Given the description of an element on the screen output the (x, y) to click on. 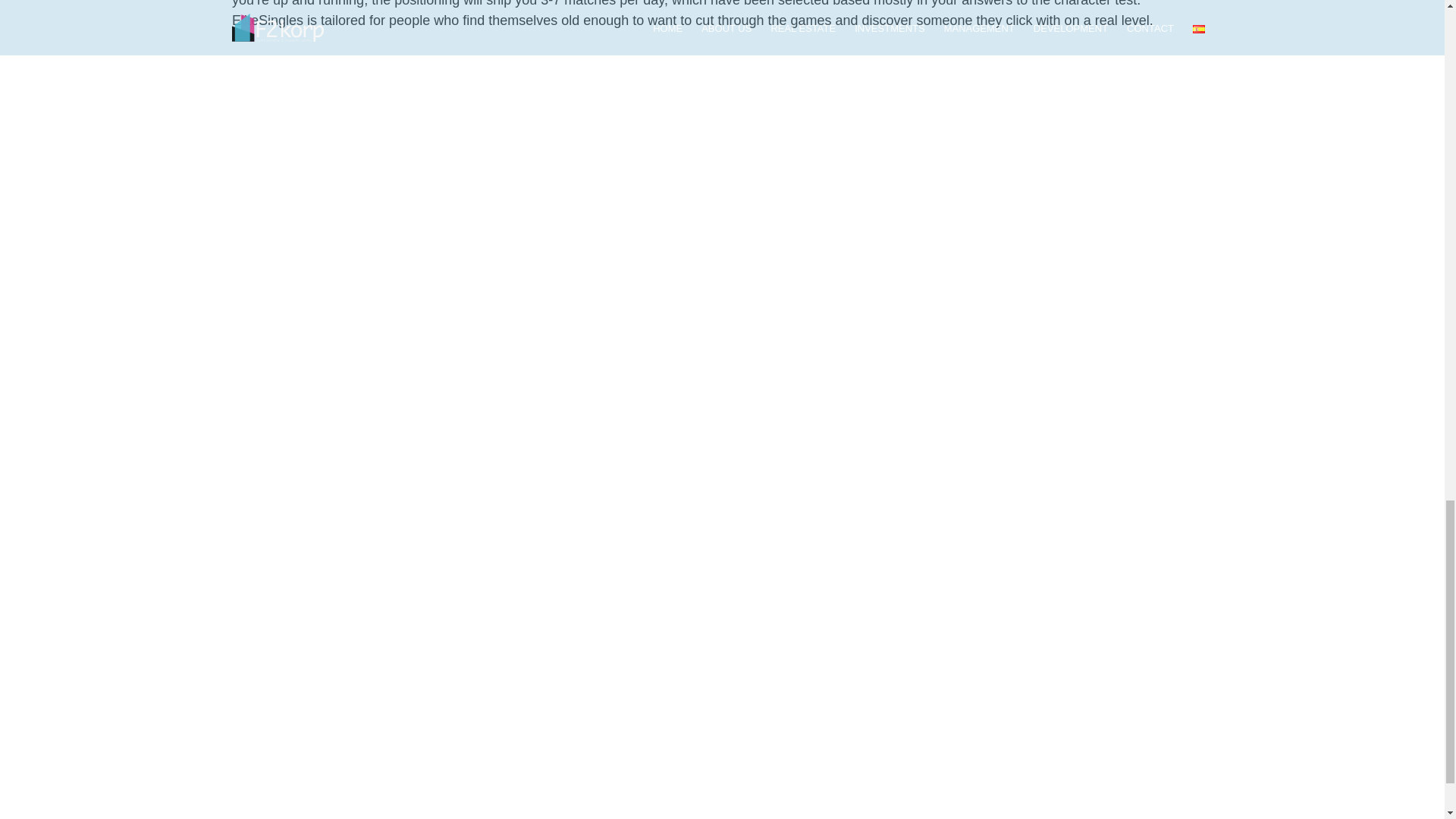
SUBMIT (1022, 623)
